Given the description of an element on the screen output the (x, y) to click on. 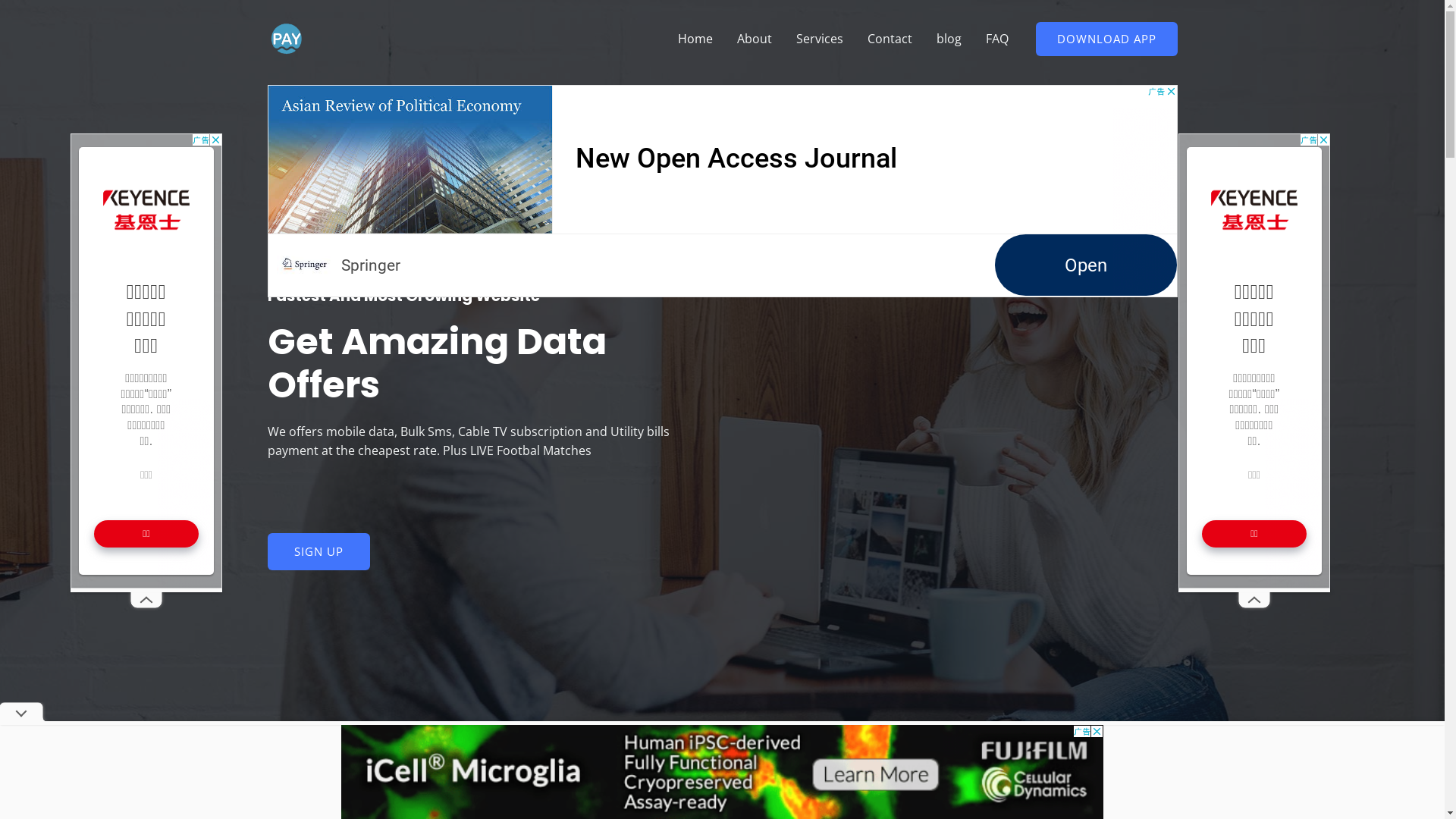
blog Element type: text (947, 38)
Advertisement Element type: hover (721, 190)
Advertisement Element type: hover (1254, 360)
Home Element type: text (694, 38)
Advertisement Element type: hover (146, 360)
FAQ Element type: text (996, 38)
DOWNLOAD APP Element type: text (1106, 38)
Contact Element type: text (889, 38)
SIGN UP Element type: text (317, 551)
Services Element type: text (819, 38)
About Element type: text (754, 38)
